Given the description of an element on the screen output the (x, y) to click on. 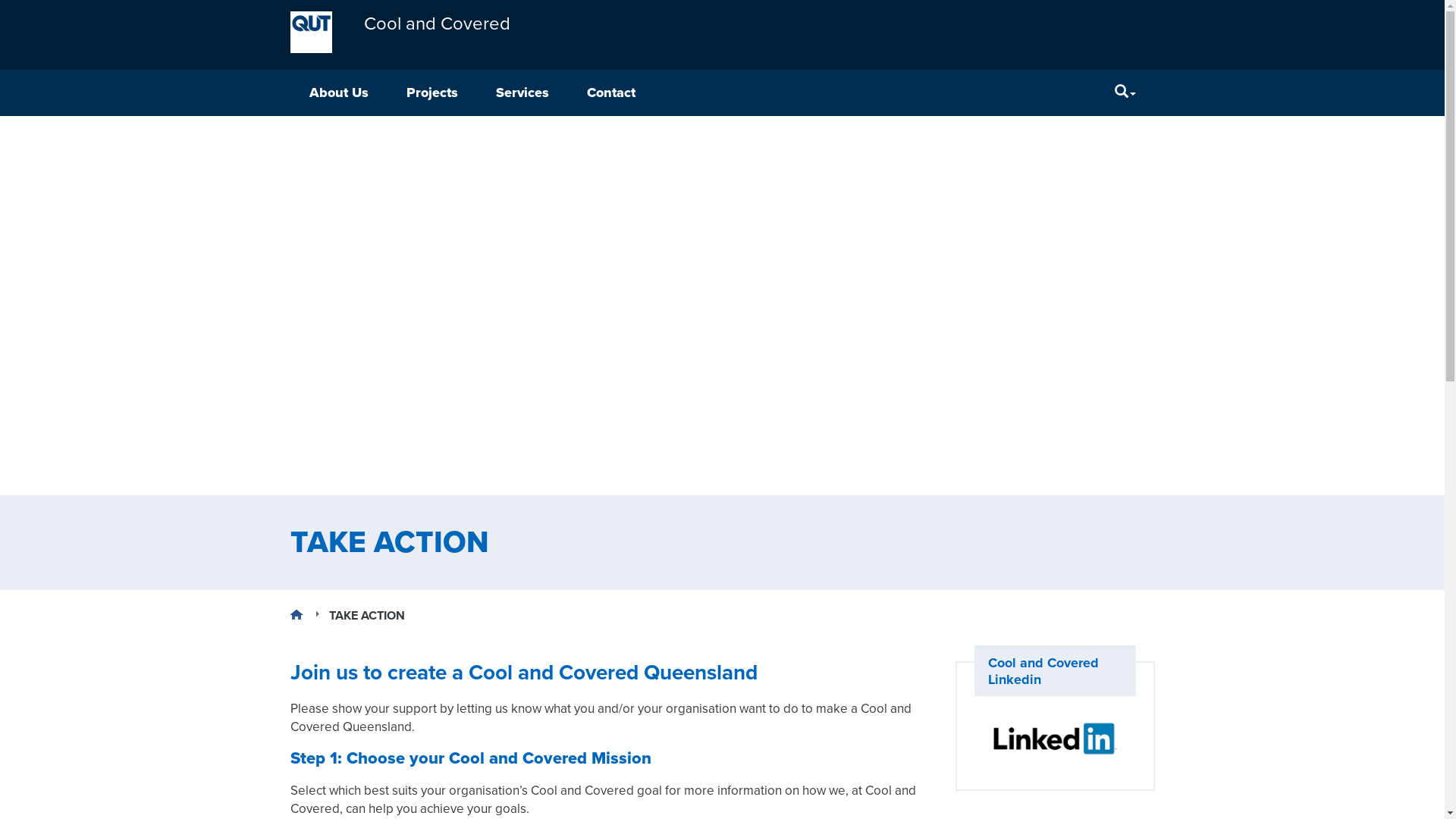
Contact Element type: text (610, 92)
About Us Element type: text (337, 92)
Projects Element type: text (431, 92)
Cool and Covered Element type: text (432, 30)
Services Element type: text (521, 92)
Home Element type: text (295, 614)
